Given the description of an element on the screen output the (x, y) to click on. 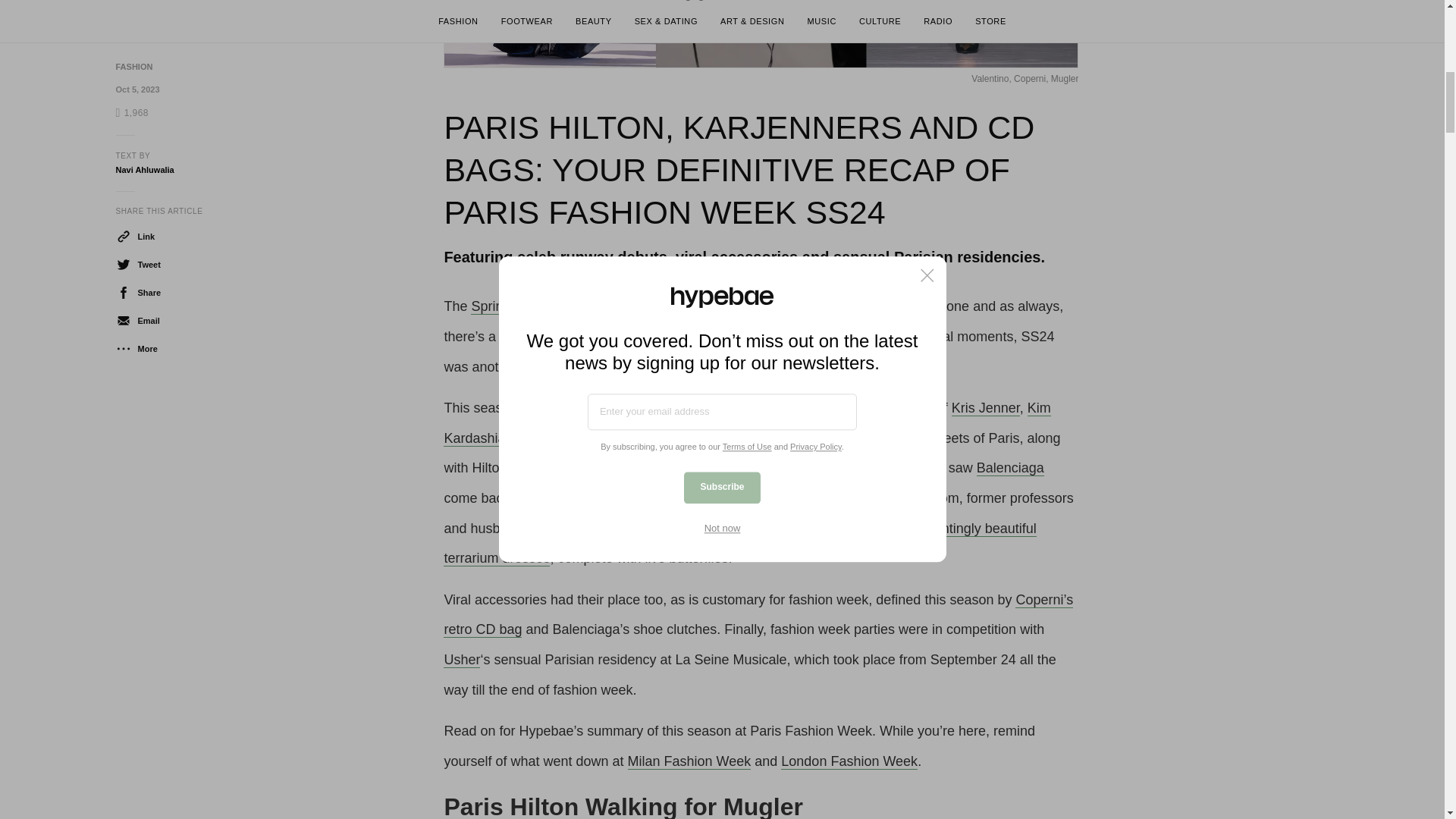
Paris Hilton (554, 438)
Balenciaga (1009, 467)
Pharrell (772, 438)
Zendaya (715, 438)
Penn Badgley (640, 438)
Troye Sivan making runway debuts (740, 467)
Kris Jenner (986, 408)
Kim Kardashian (746, 423)
Paris Fashion Week (732, 306)
